Given the description of an element on the screen output the (x, y) to click on. 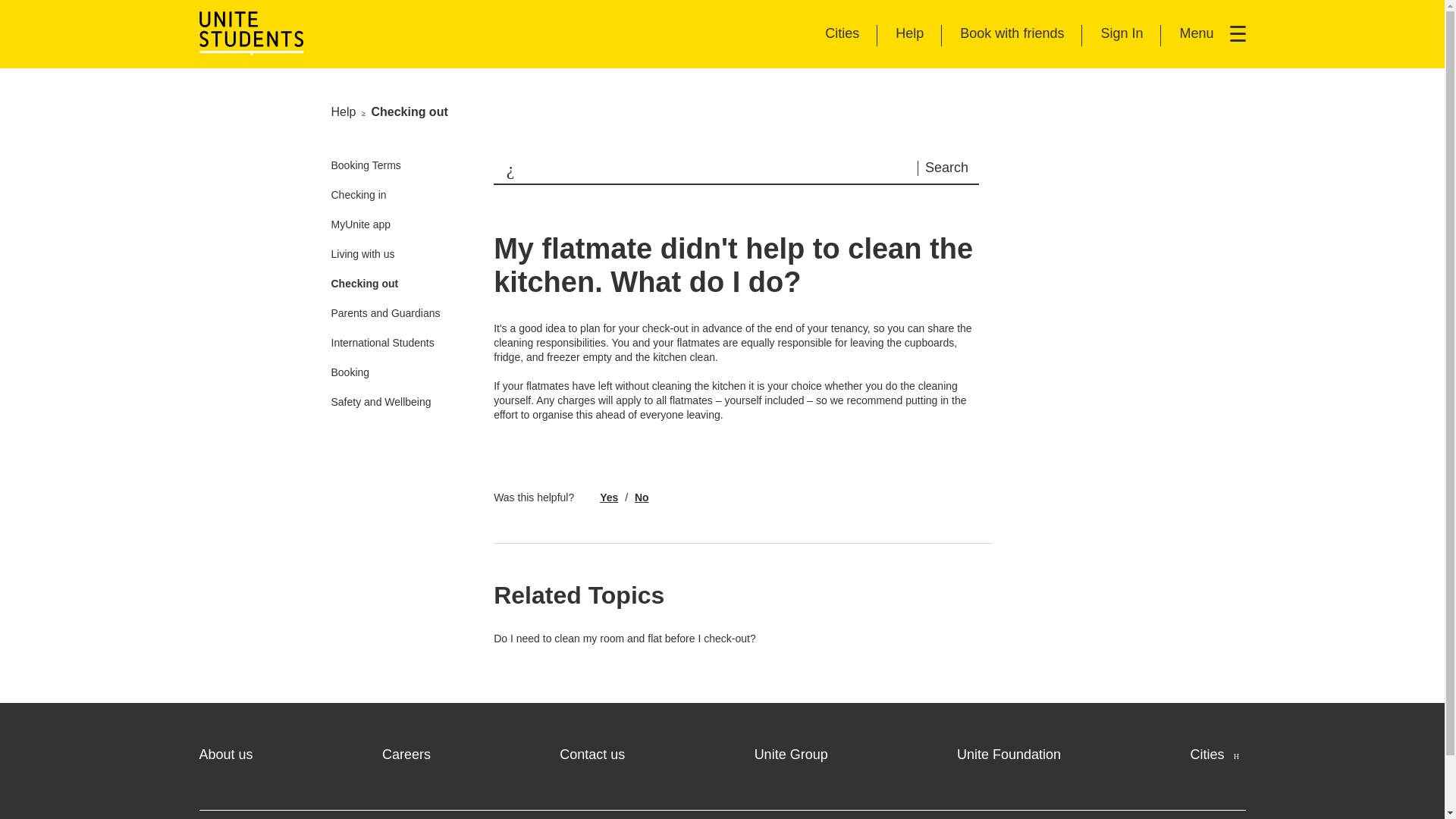
Living with us (362, 254)
Checking out (363, 283)
Unite Foundation (1008, 754)
Booking Terms (365, 164)
Search (947, 167)
Help (901, 41)
Sign In (1113, 41)
Careers (1216, 754)
Safety and Wellbeing (405, 754)
